Given the description of an element on the screen output the (x, y) to click on. 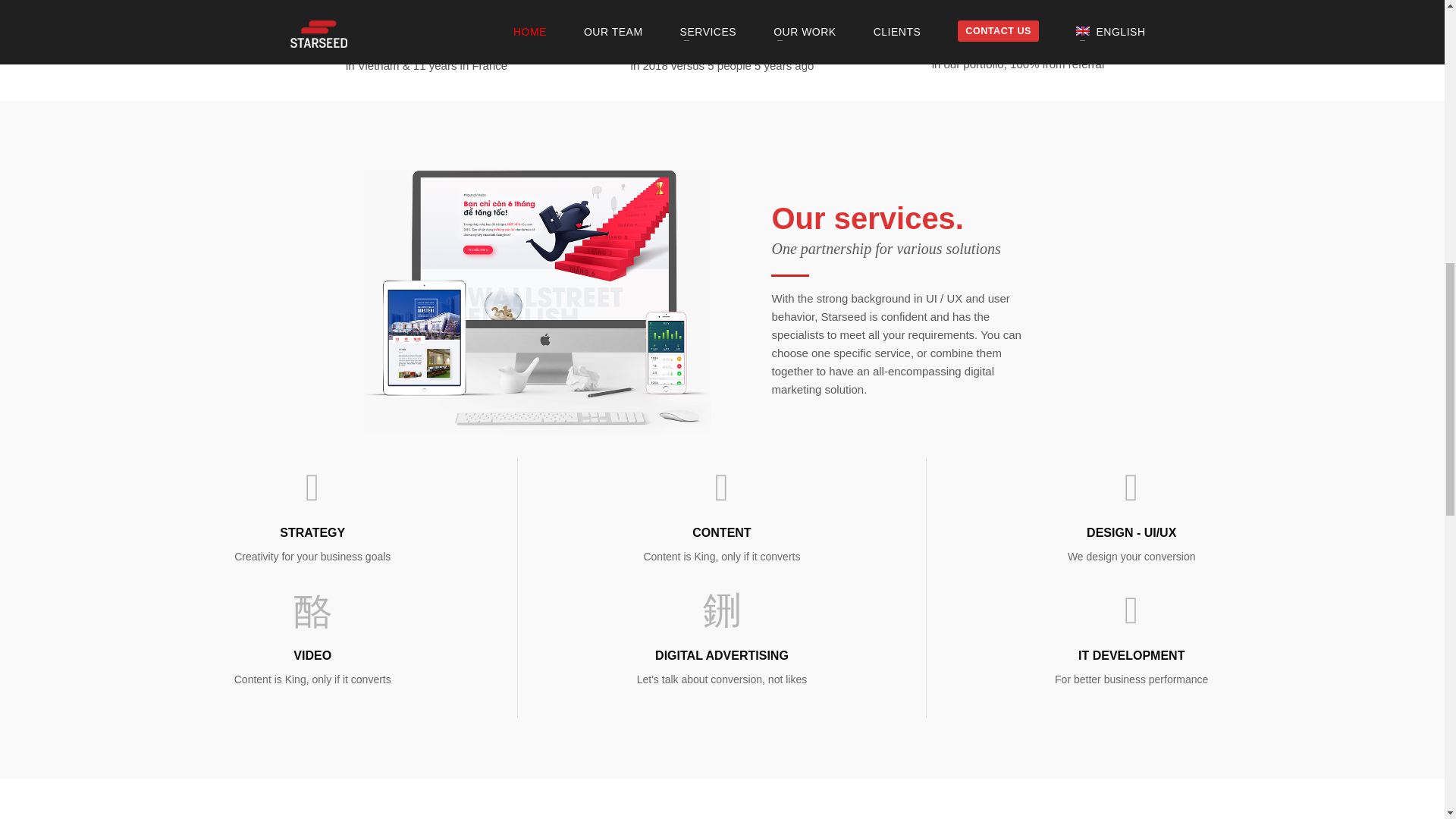
Starseed Design (1131, 532)
Starseed Strategy (312, 532)
Starseed Content (721, 486)
Starseed Design (1130, 486)
Worksace-Mockup (537, 301)
Starseed Strategy (312, 486)
Starseed Staregy (312, 556)
Starseed Design (1131, 556)
Starseed Content (722, 532)
Starseed Content (721, 556)
